Given the description of an element on the screen output the (x, y) to click on. 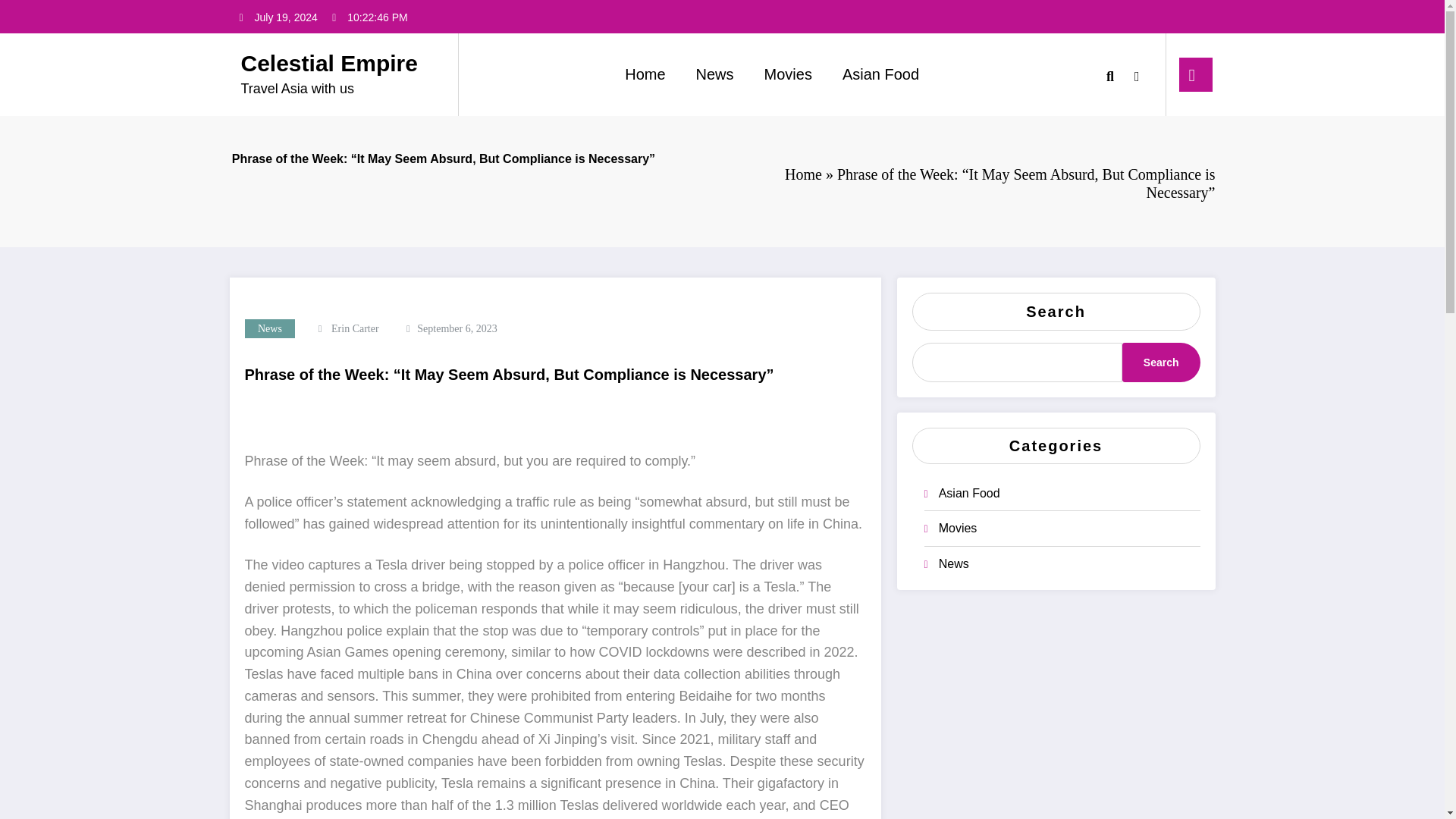
Search (1160, 362)
Movies (788, 74)
News (269, 328)
Movies (957, 527)
Asian Food (969, 492)
Asian Food (880, 74)
News (715, 74)
Home (644, 74)
Celestial Empire (329, 63)
News (954, 563)
September 6, 2023 (456, 328)
Erin Carter (354, 328)
Home (803, 174)
